Given the description of an element on the screen output the (x, y) to click on. 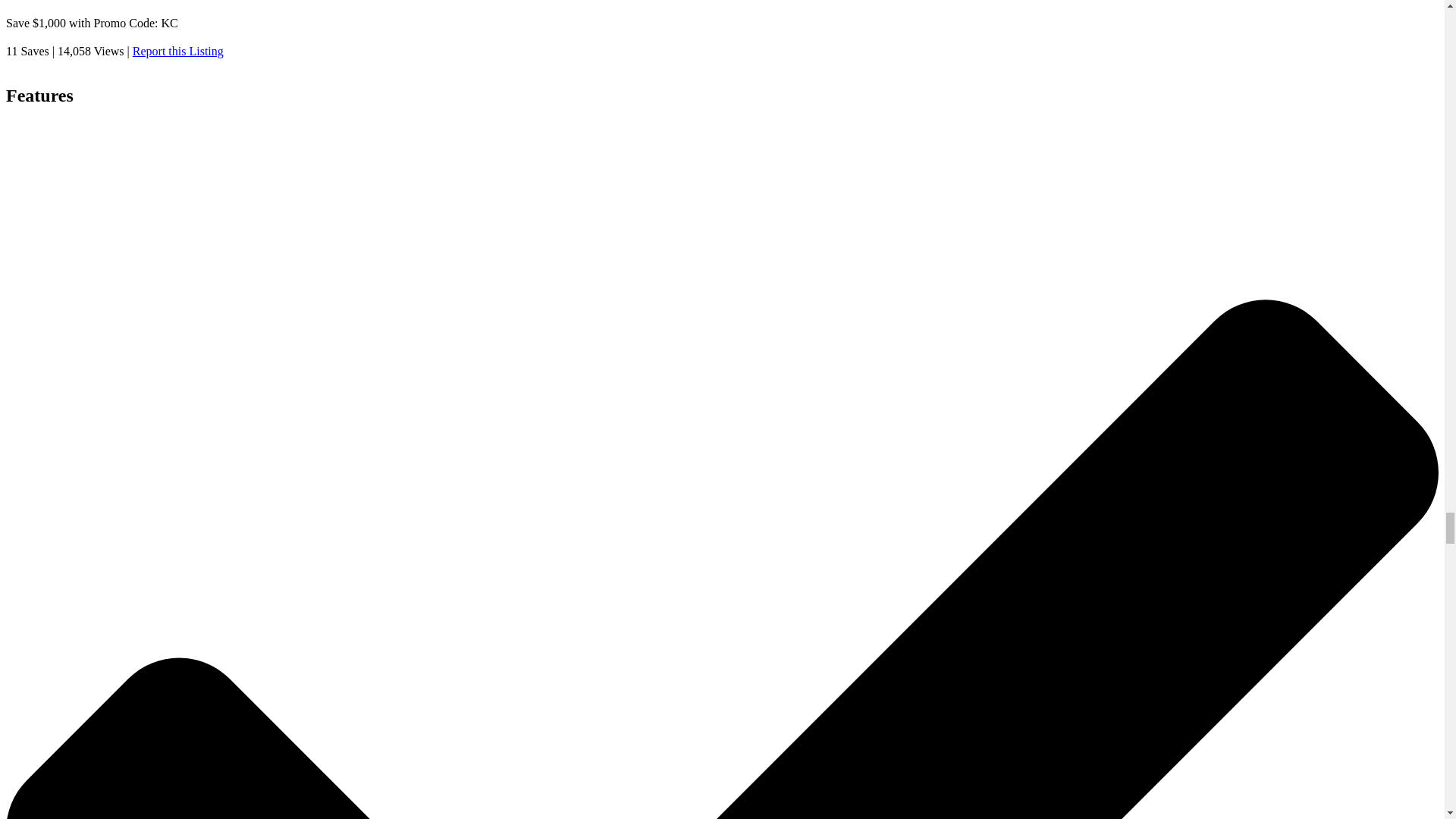
Report this Listing (178, 51)
